Given the description of an element on the screen output the (x, y) to click on. 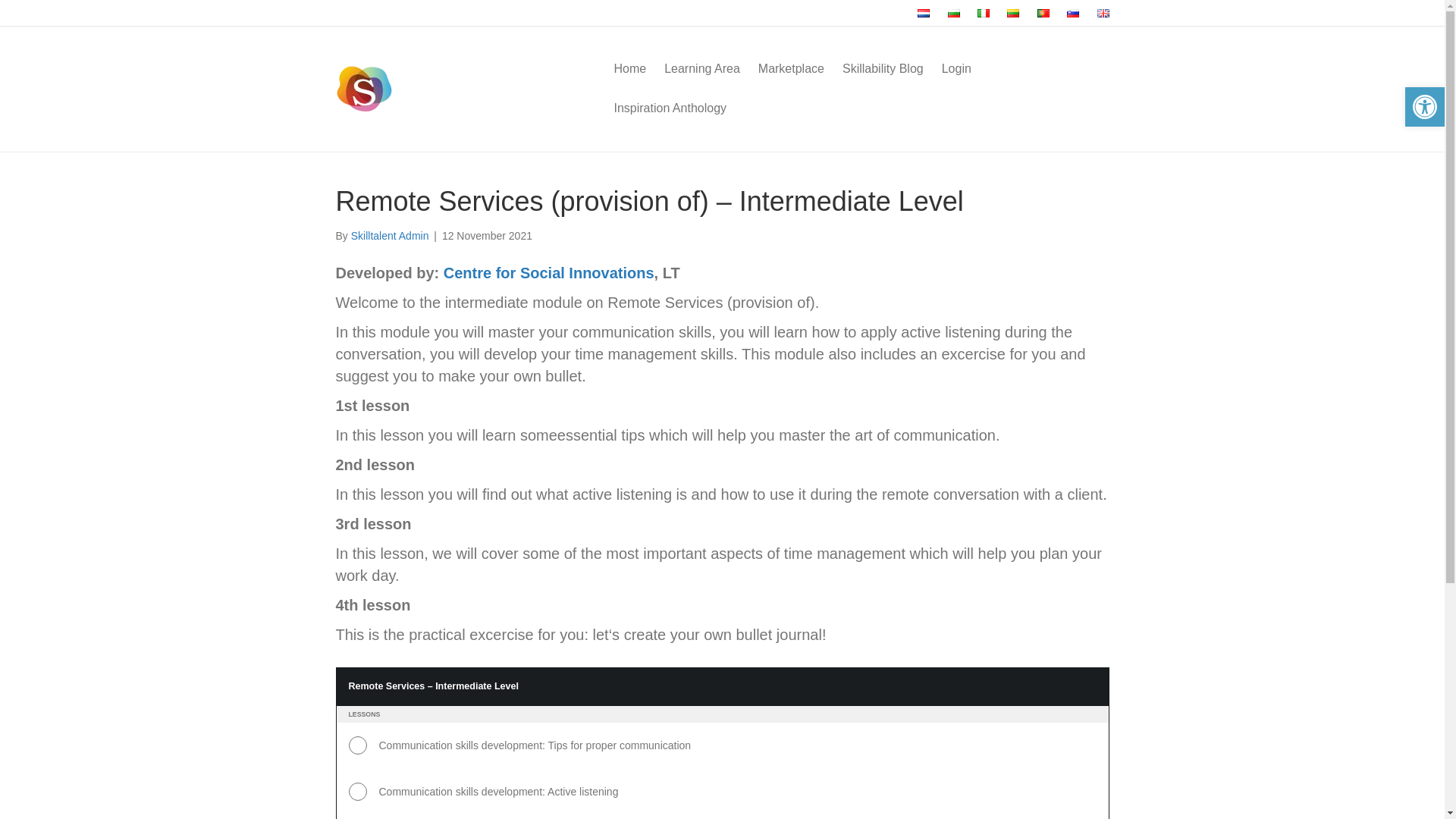
Accessibility Tools (1424, 106)
Learning Area (702, 68)
Skillability Blog (882, 68)
Communication skills development: Active listening (722, 791)
Login (956, 68)
Skilltalent Admin (389, 235)
Inspiration Anthology (669, 107)
Marketplace (790, 68)
Home (629, 68)
